Given the description of an element on the screen output the (x, y) to click on. 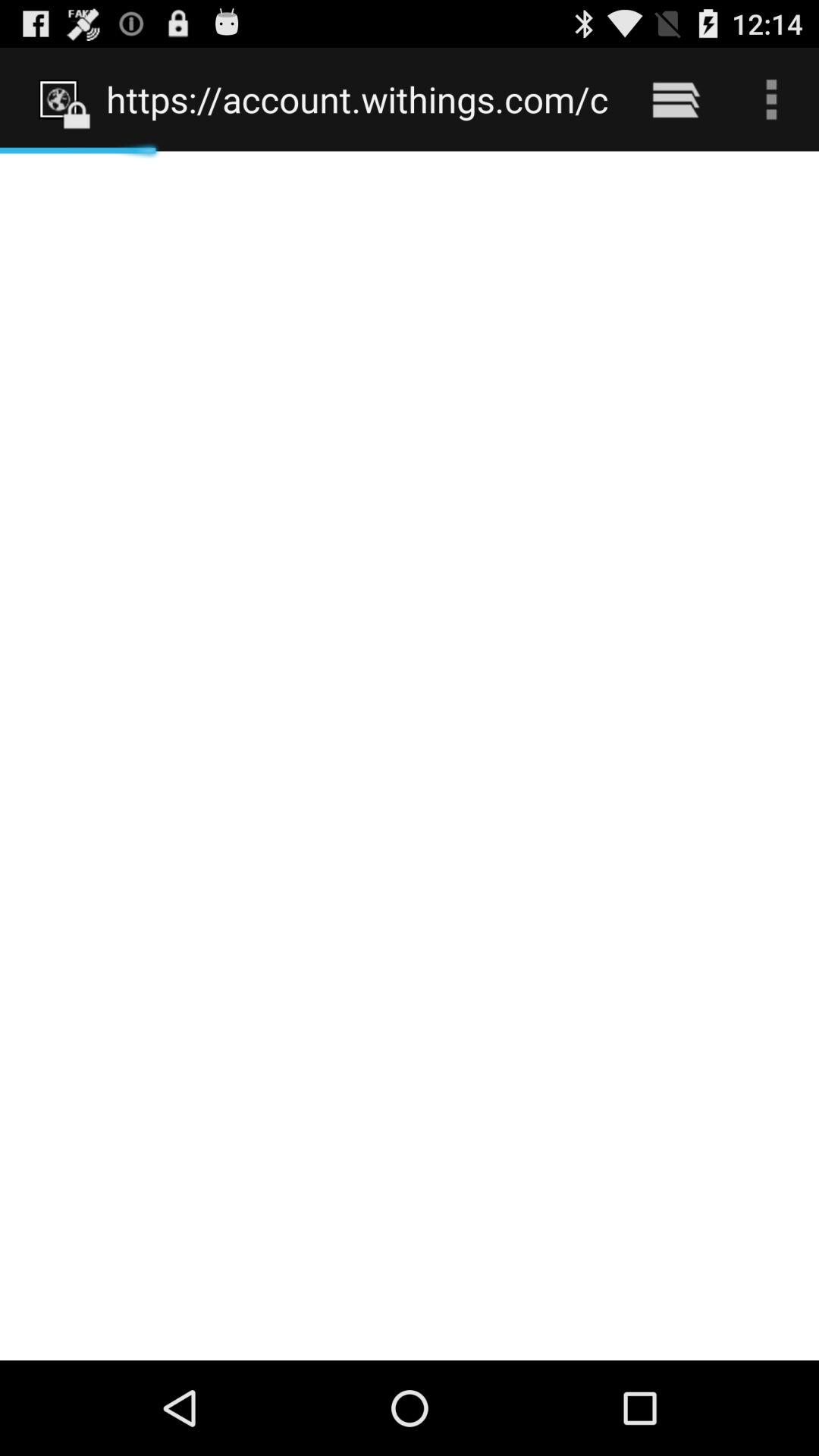
press the icon next to the https account withings icon (675, 99)
